Given the description of an element on the screen output the (x, y) to click on. 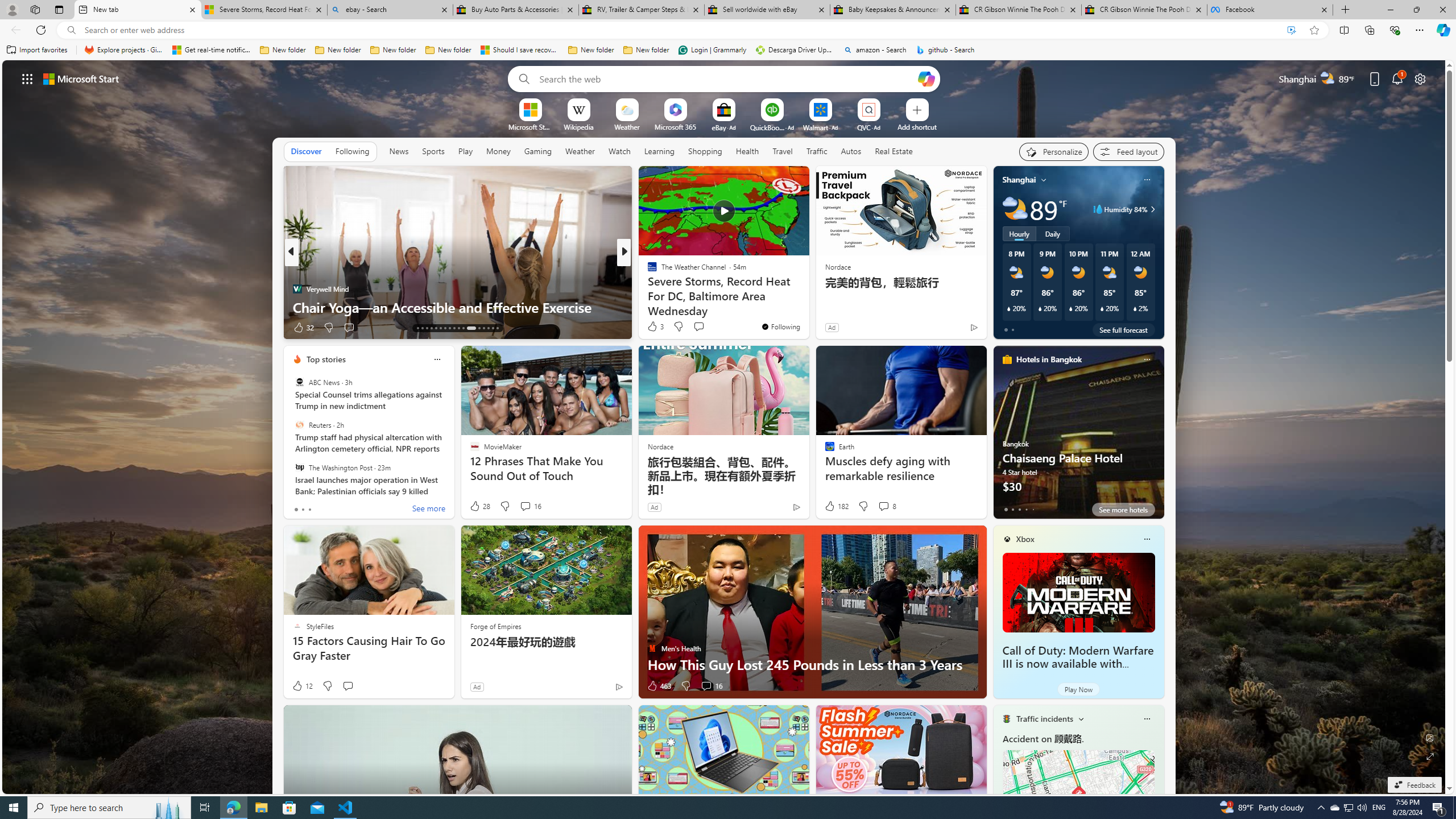
AutomationID: tab-28 (492, 328)
Traffic incidents (1044, 718)
AutomationID: tab-27 (488, 328)
Health (746, 151)
Enter your search term (726, 78)
Learning (659, 151)
Enhance video (1291, 29)
TheStreet (647, 288)
Reuters (299, 424)
